Given the description of an element on the screen output the (x, y) to click on. 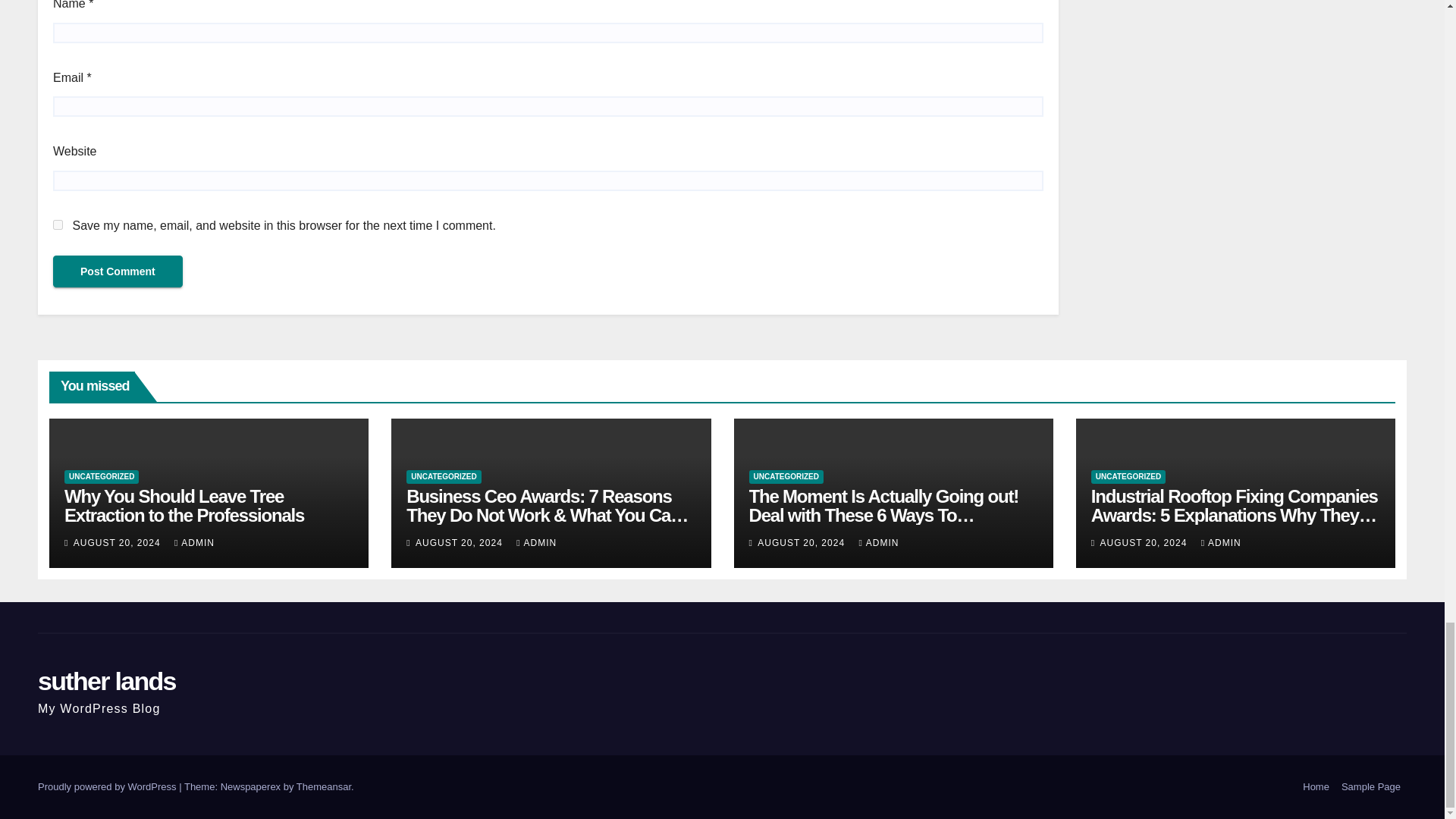
yes (57, 225)
Home (1316, 786)
Post Comment (117, 271)
Post Comment (117, 271)
